Given the description of an element on the screen output the (x, y) to click on. 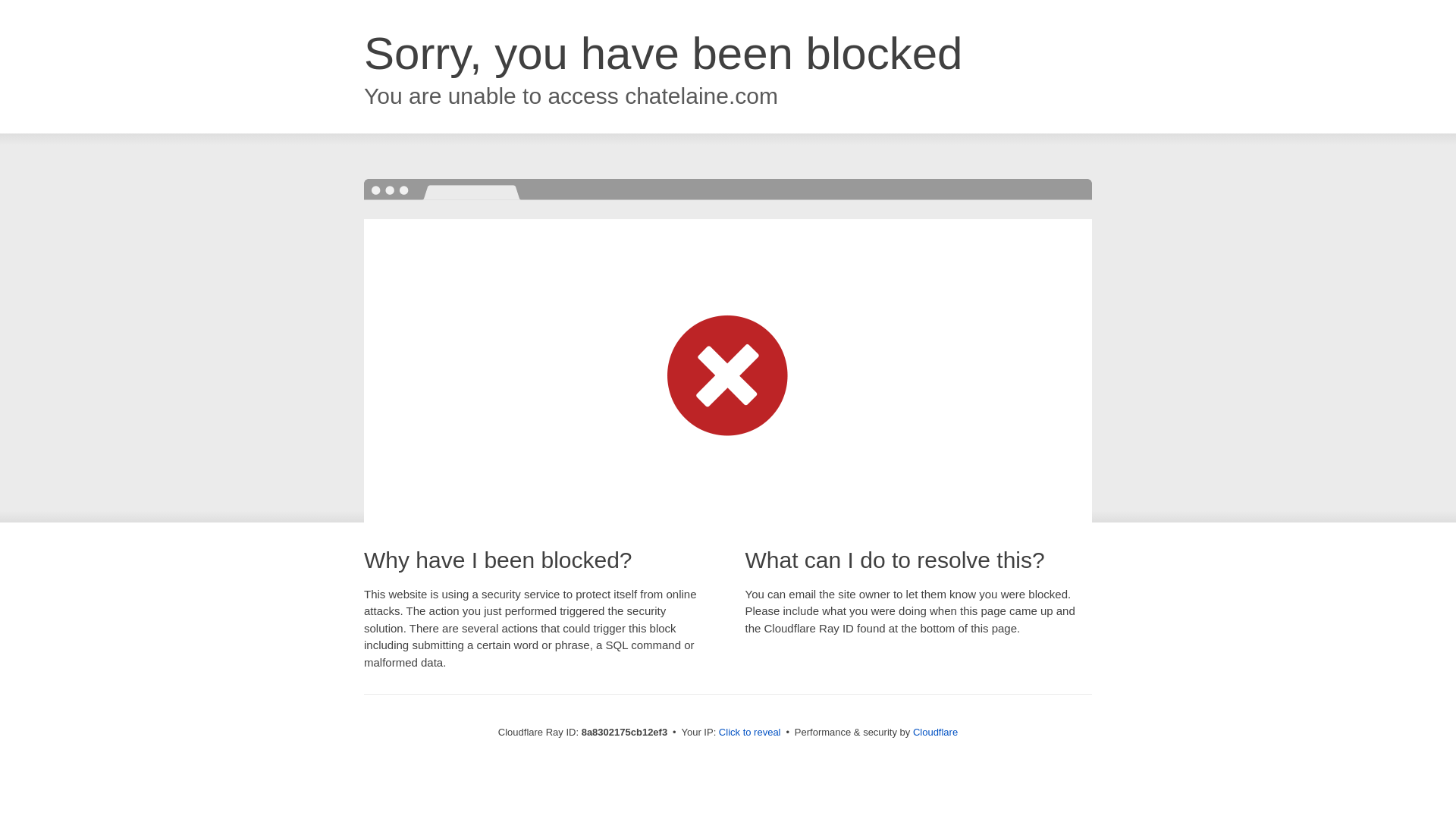
Cloudflare (935, 731)
Click to reveal (749, 732)
